Given the description of an element on the screen output the (x, y) to click on. 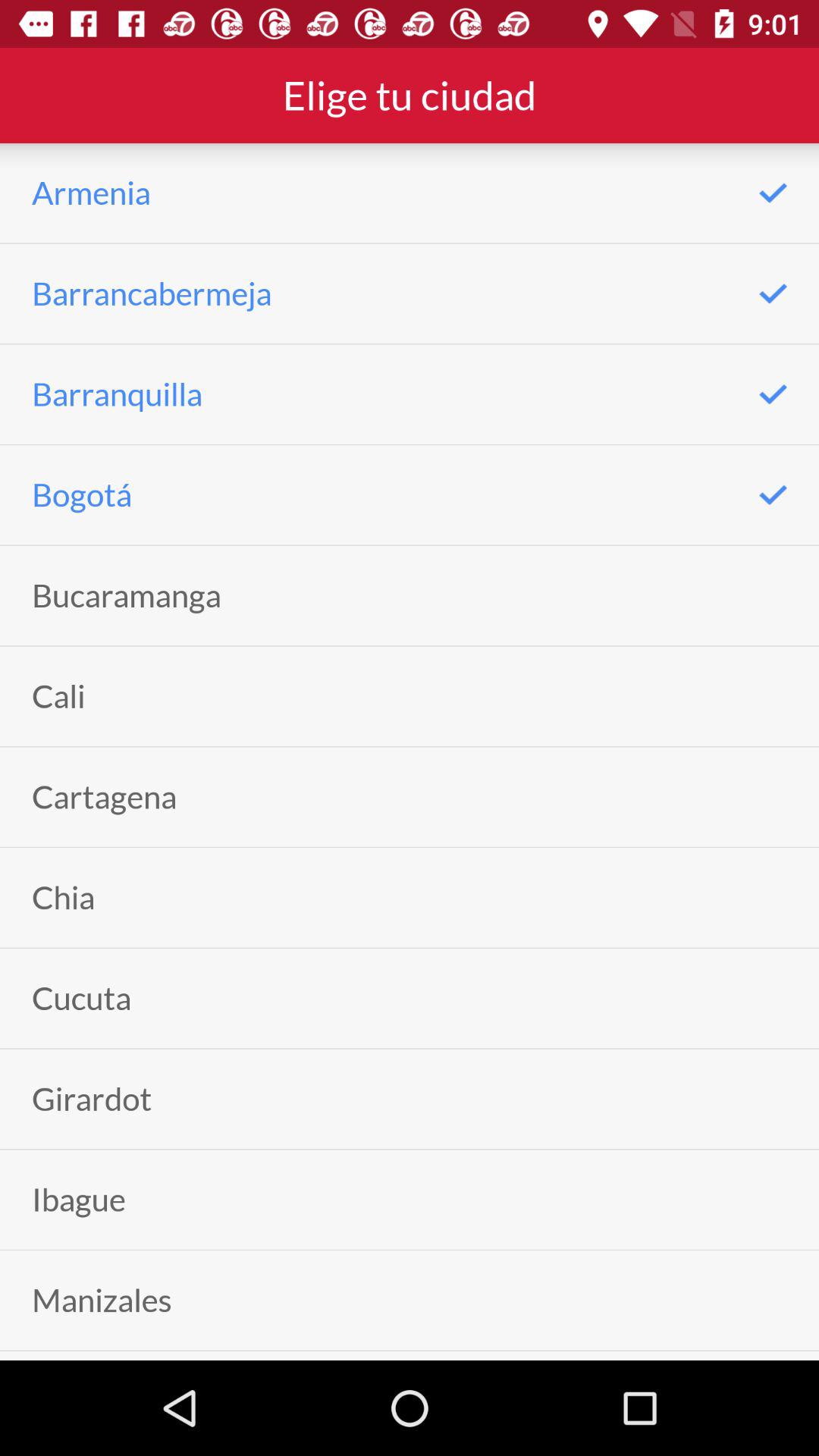
scroll to the barranquilla (116, 394)
